Given the description of an element on the screen output the (x, y) to click on. 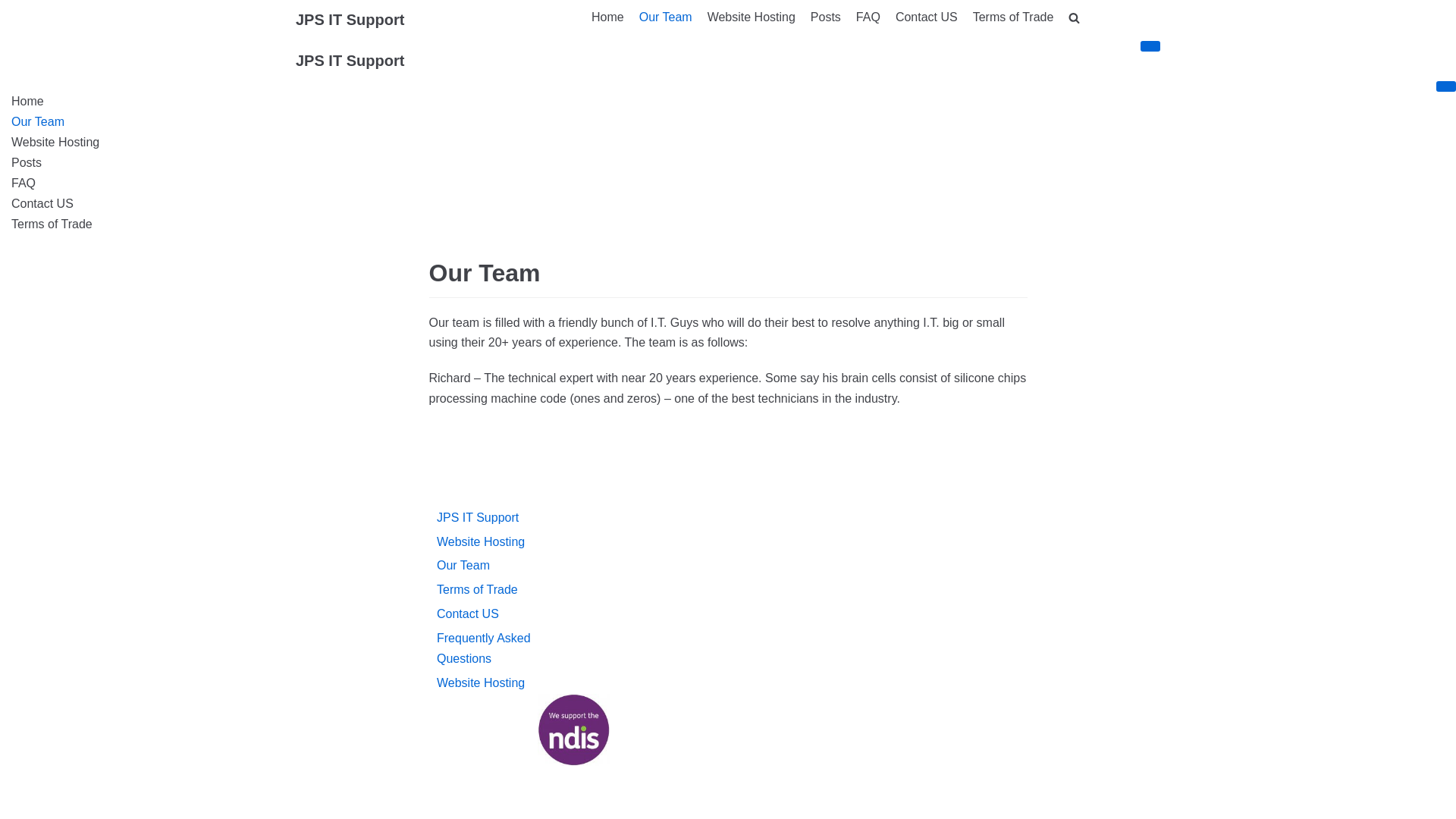
Our Team Element type: text (462, 564)
Home Element type: text (727, 101)
Terms of Trade Element type: text (727, 224)
Posts Element type: text (825, 17)
Contact US Element type: text (926, 17)
Our Team Element type: text (727, 122)
FAQ Element type: text (727, 183)
Our Team Element type: text (665, 17)
Website Hosting Element type: text (480, 682)
Contact US Element type: text (727, 204)
Contact US Element type: text (467, 613)
Terms of Trade Element type: text (1013, 17)
Posts Element type: text (727, 163)
Website Hosting Element type: text (727, 142)
Terms of Trade Element type: text (476, 589)
Website Hosting Element type: text (480, 541)
JPS IT Support Element type: text (477, 517)
Website Hosting Element type: text (751, 17)
Home Element type: text (607, 17)
Search Element type: text (1047, 51)
Frequently Asked Questions Element type: text (483, 648)
JPS IT Support Element type: text (349, 61)
Skip to content Element type: text (15, 7)
JPS IT Support Element type: text (349, 20)
FAQ Element type: text (868, 17)
